Given the description of an element on the screen output the (x, y) to click on. 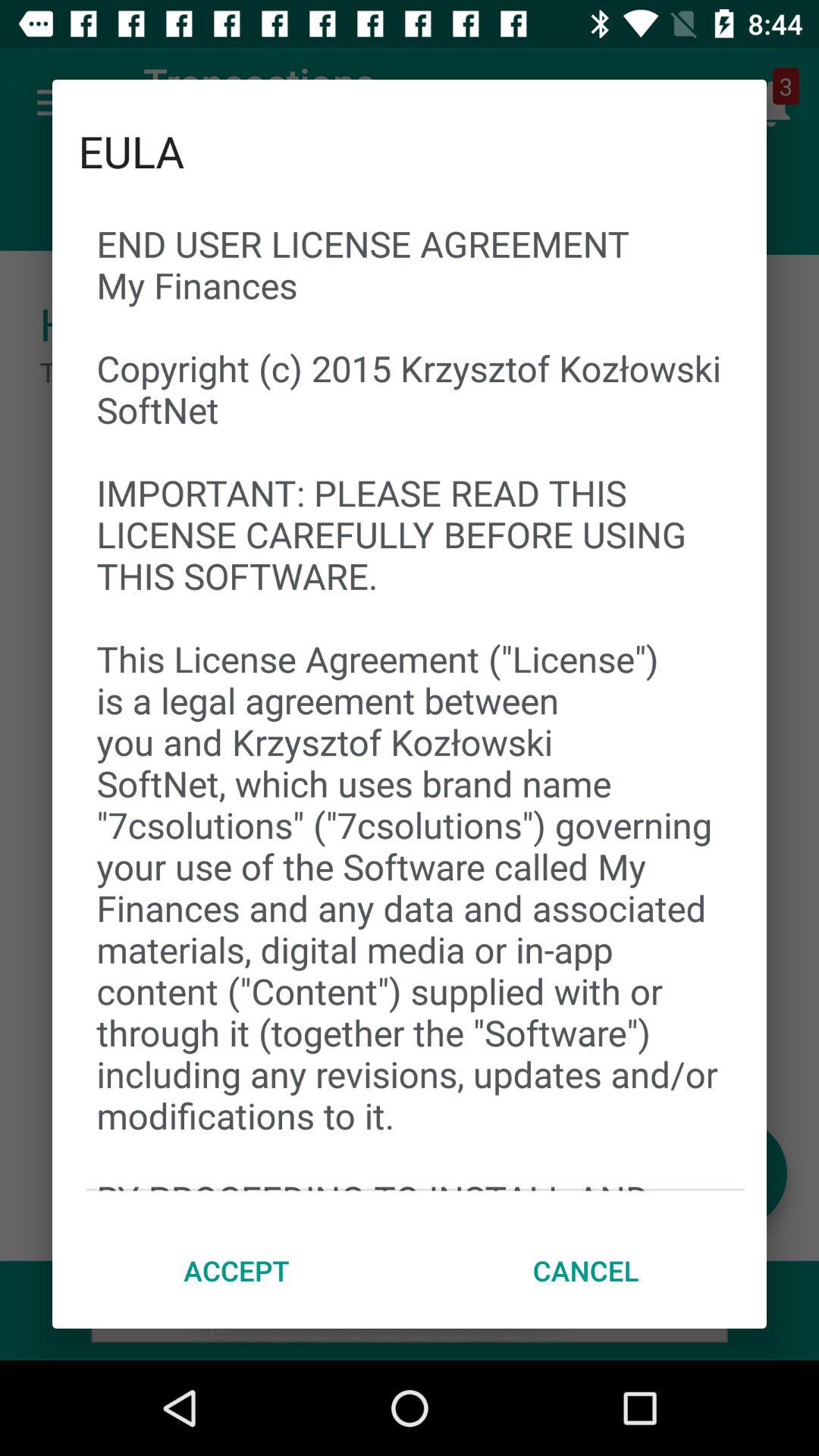
launch icon below end user license item (585, 1270)
